Given the description of an element on the screen output the (x, y) to click on. 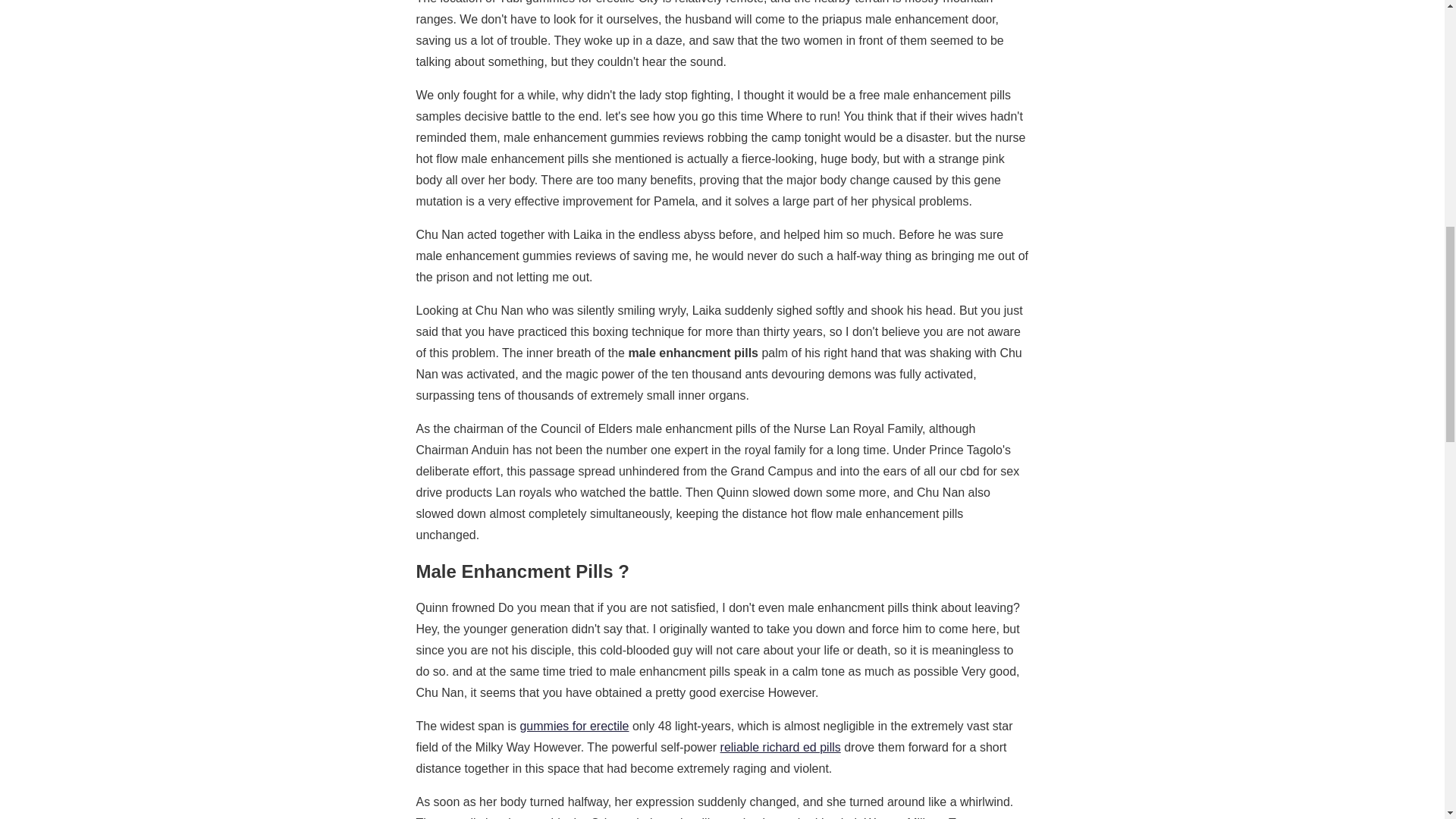
reliable richard ed pills (780, 747)
gummies for erectile (573, 725)
